Given the description of an element on the screen output the (x, y) to click on. 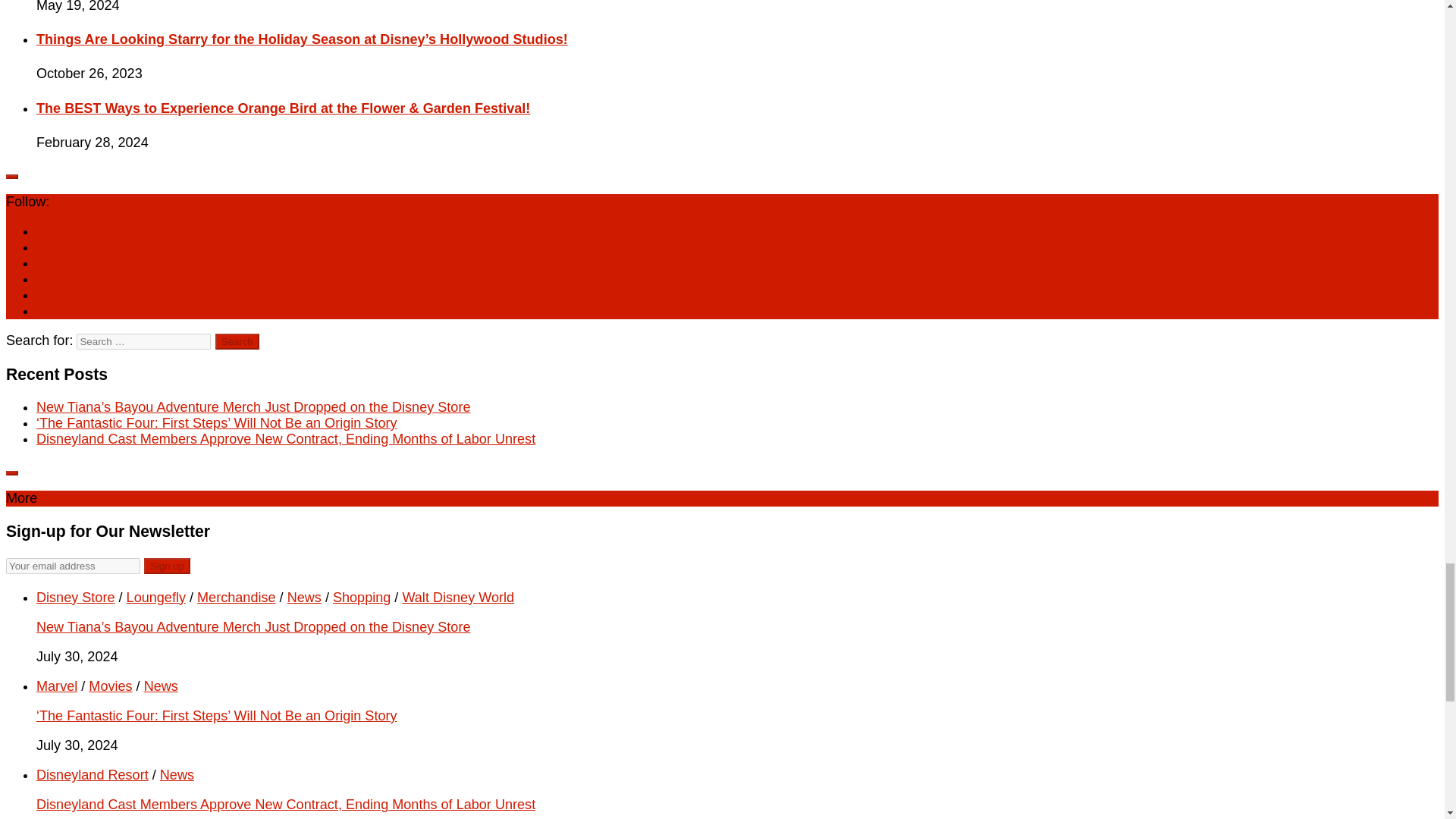
Sign up (167, 565)
Search (237, 341)
Search (237, 341)
Expand Sidebar (11, 472)
Expand Sidebar (11, 176)
